Given the description of an element on the screen output the (x, y) to click on. 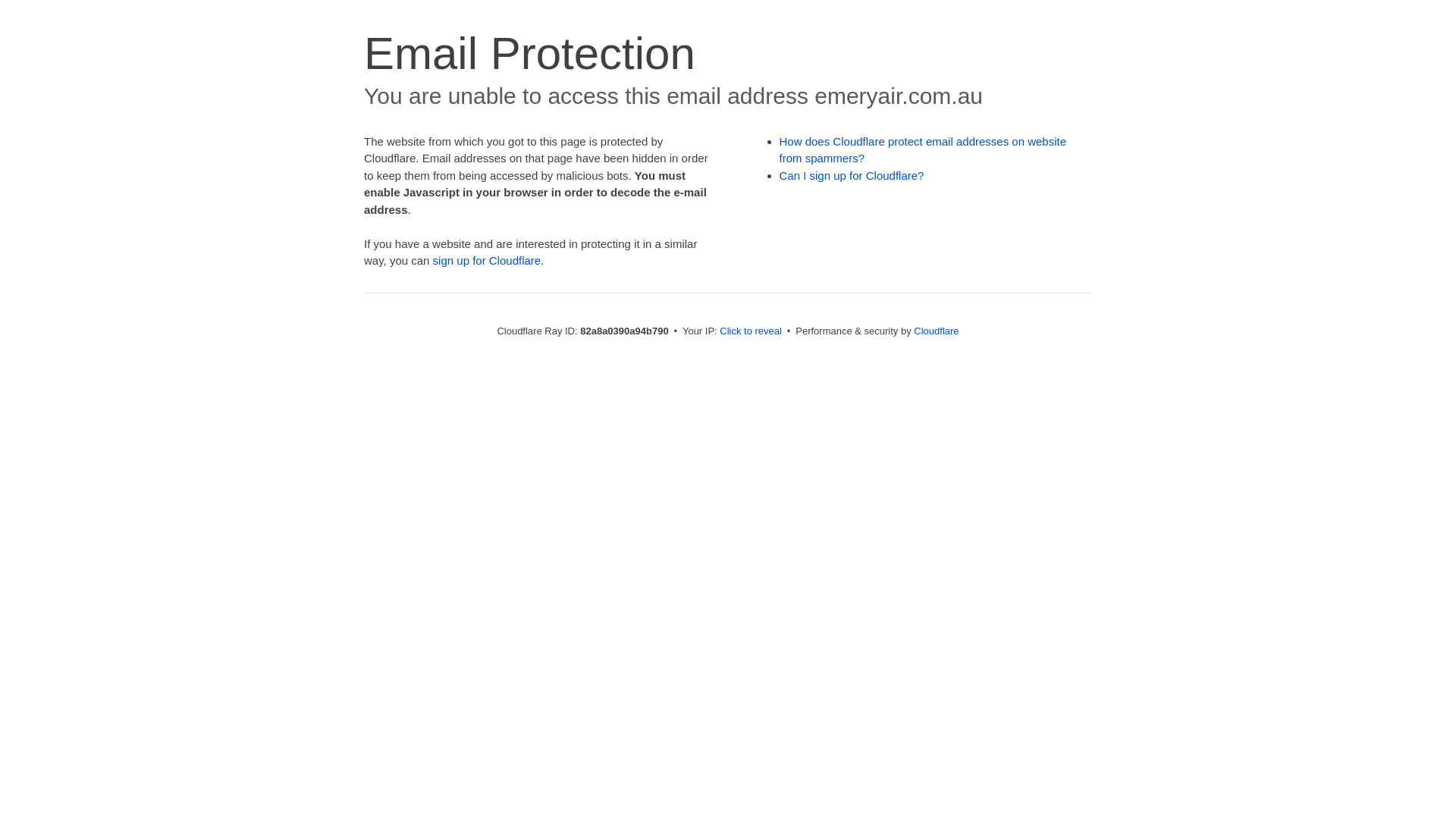
Can I sign up for Cloudflare? Element type: text (851, 175)
Click to reveal Element type: text (750, 330)
sign up for Cloudflare Element type: text (487, 260)
Cloudflare Element type: text (935, 330)
